Given the description of an element on the screen output the (x, y) to click on. 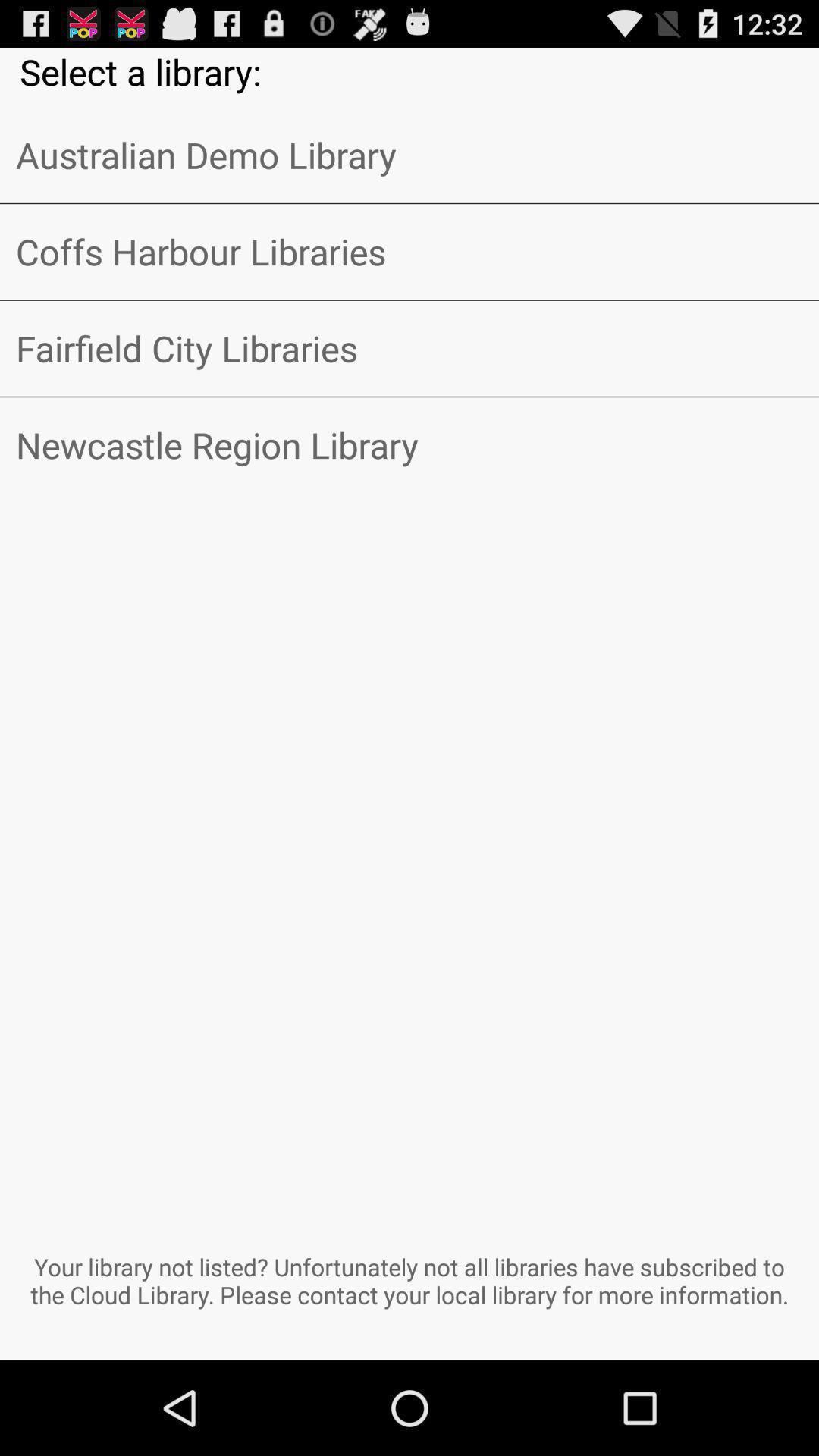
press the fairfield city libraries (409, 348)
